Given the description of an element on the screen output the (x, y) to click on. 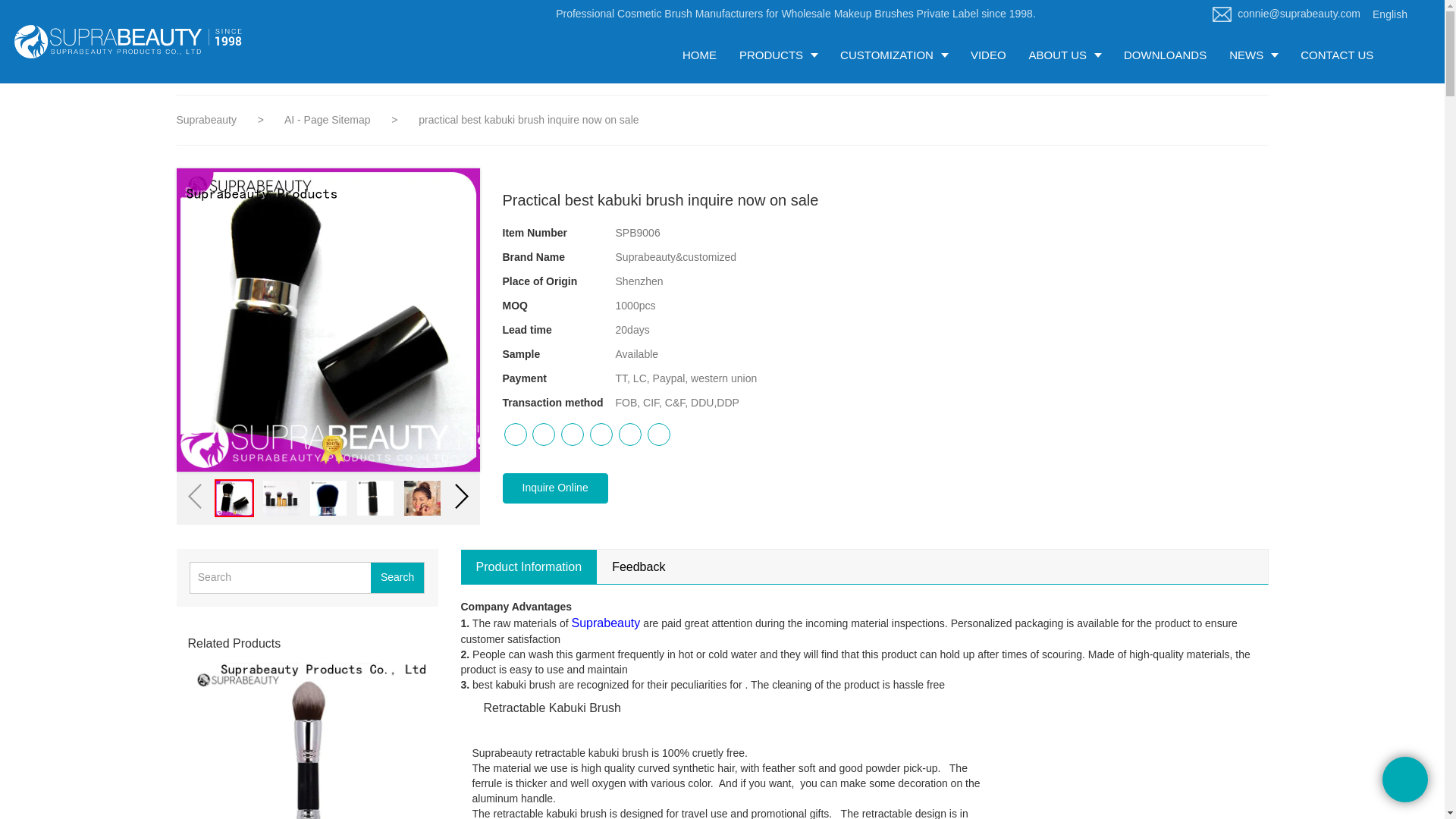
PRODUCTS (778, 55)
DOWNLOANDS (1164, 55)
CONTACT US (1336, 55)
CUSTOMIZATION (893, 55)
AI - Page Sitemap (328, 119)
ABOUT US (1064, 55)
HOME (699, 55)
VIDEO (988, 55)
NEWS (1252, 55)
Suprabeauty (205, 119)
